Given the description of an element on the screen output the (x, y) to click on. 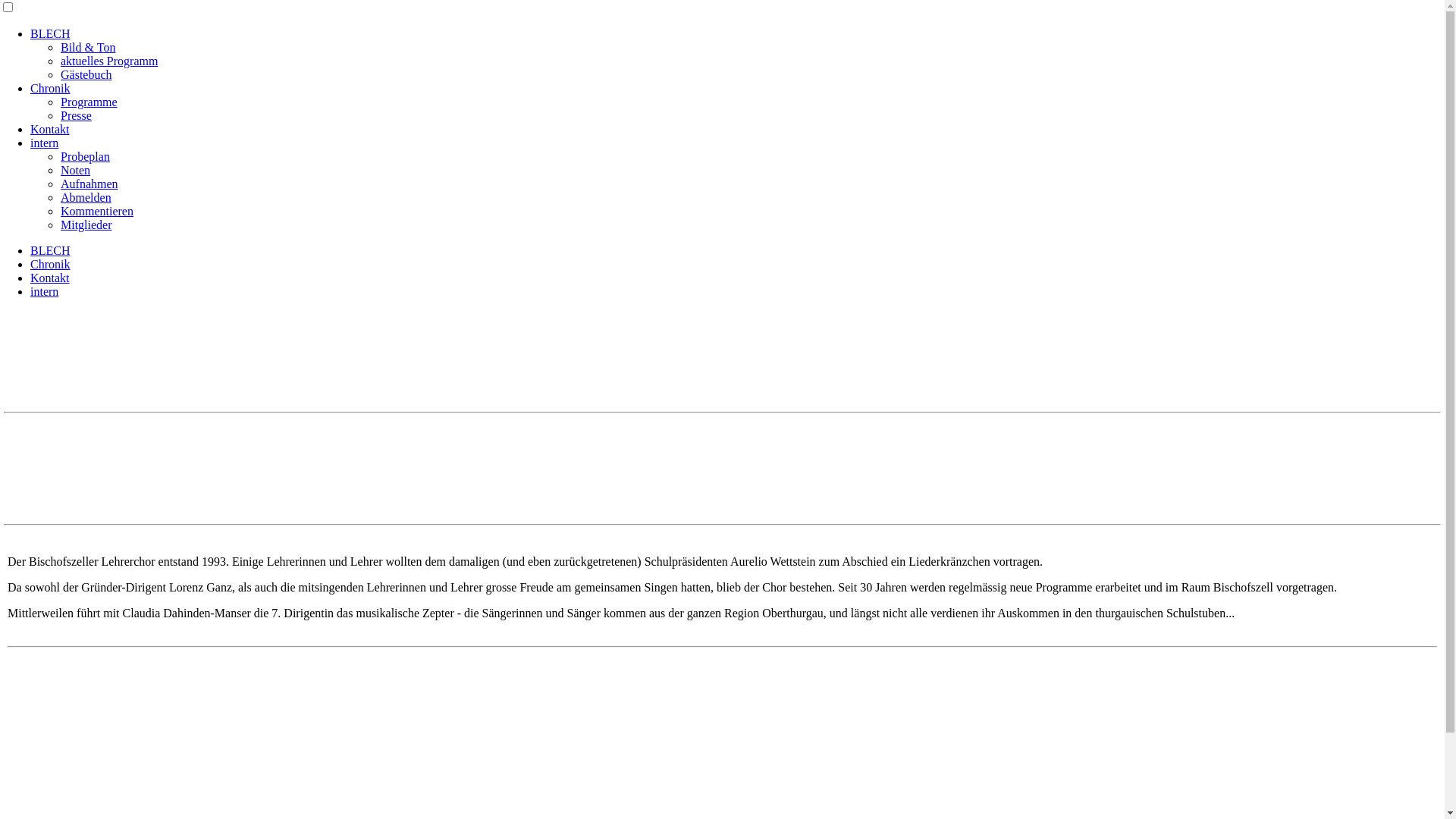
Presse Element type: text (75, 115)
Aufnahmen Element type: text (89, 183)
BLECH Element type: text (49, 33)
Mitglieder Element type: text (86, 224)
Noten Element type: text (75, 169)
Chronik Element type: text (49, 263)
Kommentieren Element type: text (96, 210)
Programme Element type: text (88, 101)
aktuelles Programm Element type: text (108, 60)
BLECH Element type: text (49, 250)
Abmelden Element type: text (85, 197)
Probeplan Element type: text (84, 156)
Kontakt Element type: text (49, 277)
Bild & Ton Element type: text (87, 46)
intern Element type: text (44, 291)
Kontakt Element type: text (49, 128)
Chronik Element type: text (49, 87)
intern Element type: text (44, 142)
